Given the description of an element on the screen output the (x, y) to click on. 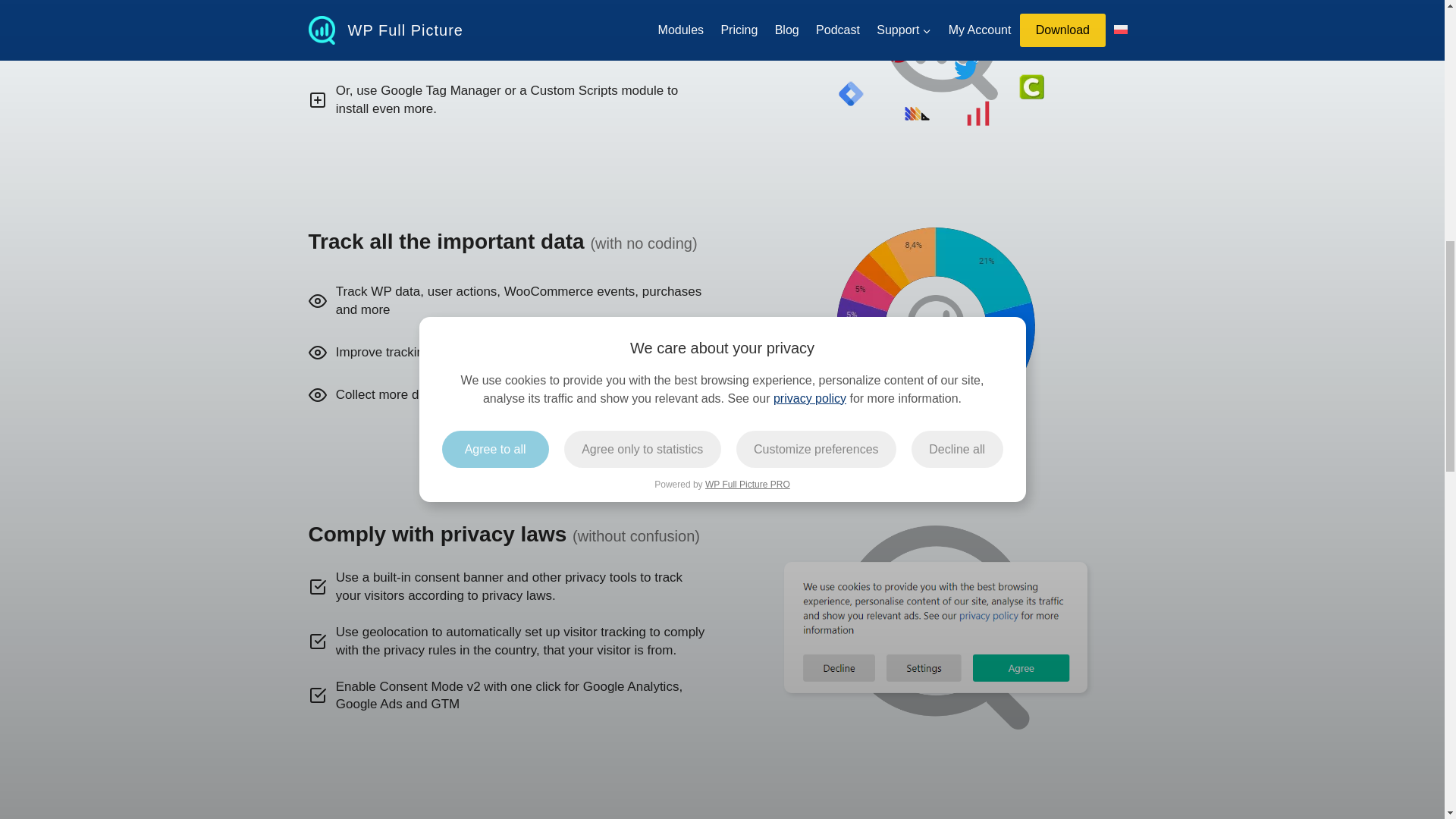
Home 6 (935, 626)
Home 5 (934, 326)
Home 4 (940, 63)
